Given the description of an element on the screen output the (x, y) to click on. 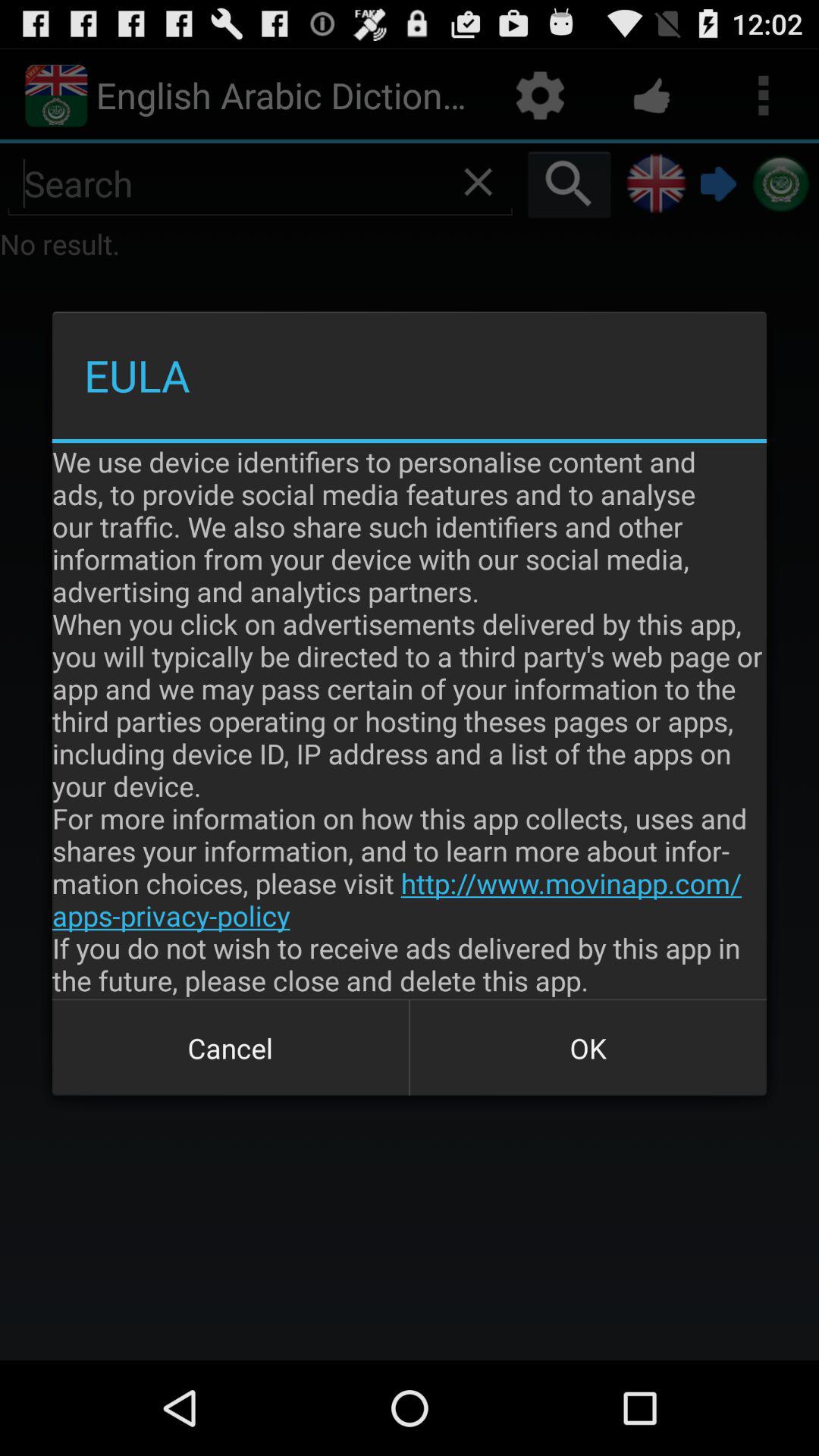
tap the button at the bottom right corner (588, 1047)
